Given the description of an element on the screen output the (x, y) to click on. 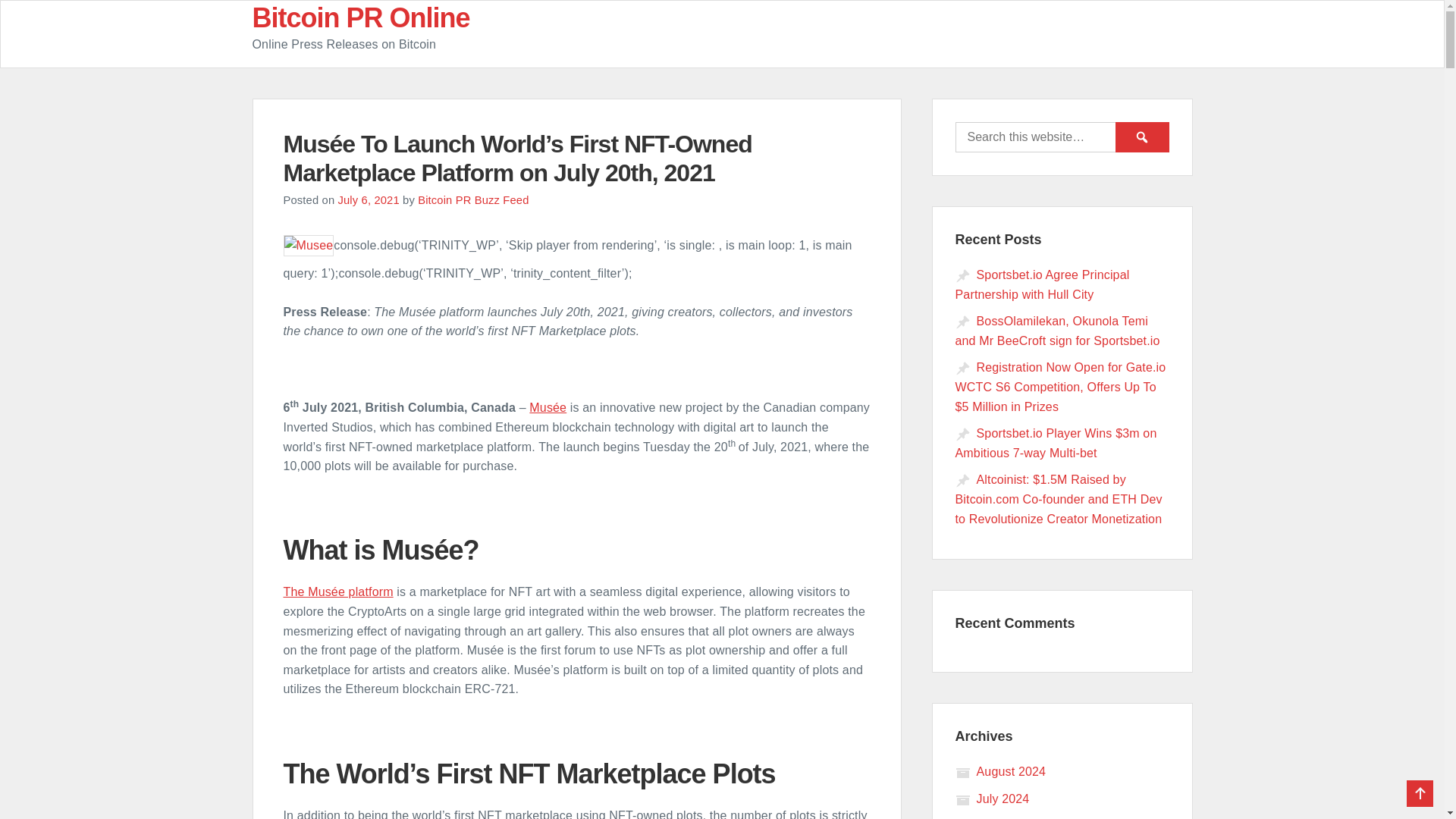
August 2024 (1000, 771)
Bitcoin PR Online (359, 17)
July 6, 2021 (367, 200)
Sportsbet.io Agree Principal Partnership with Hull City (1042, 284)
July 2024 (992, 798)
Bitcoin PR Buzz Feed (472, 200)
